Given the description of an element on the screen output the (x, y) to click on. 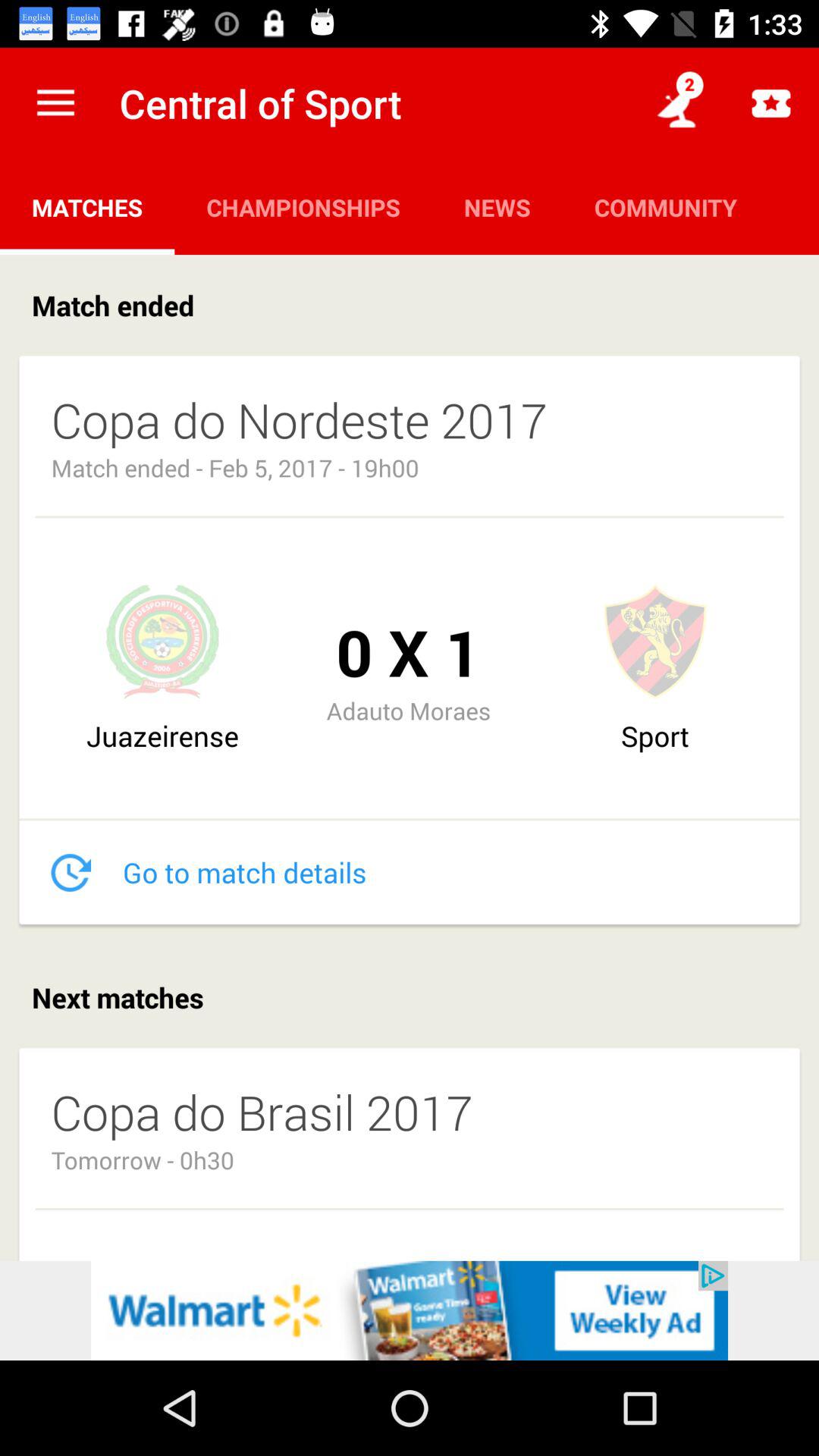
go to walmart.com (409, 1310)
